Given the description of an element on the screen output the (x, y) to click on. 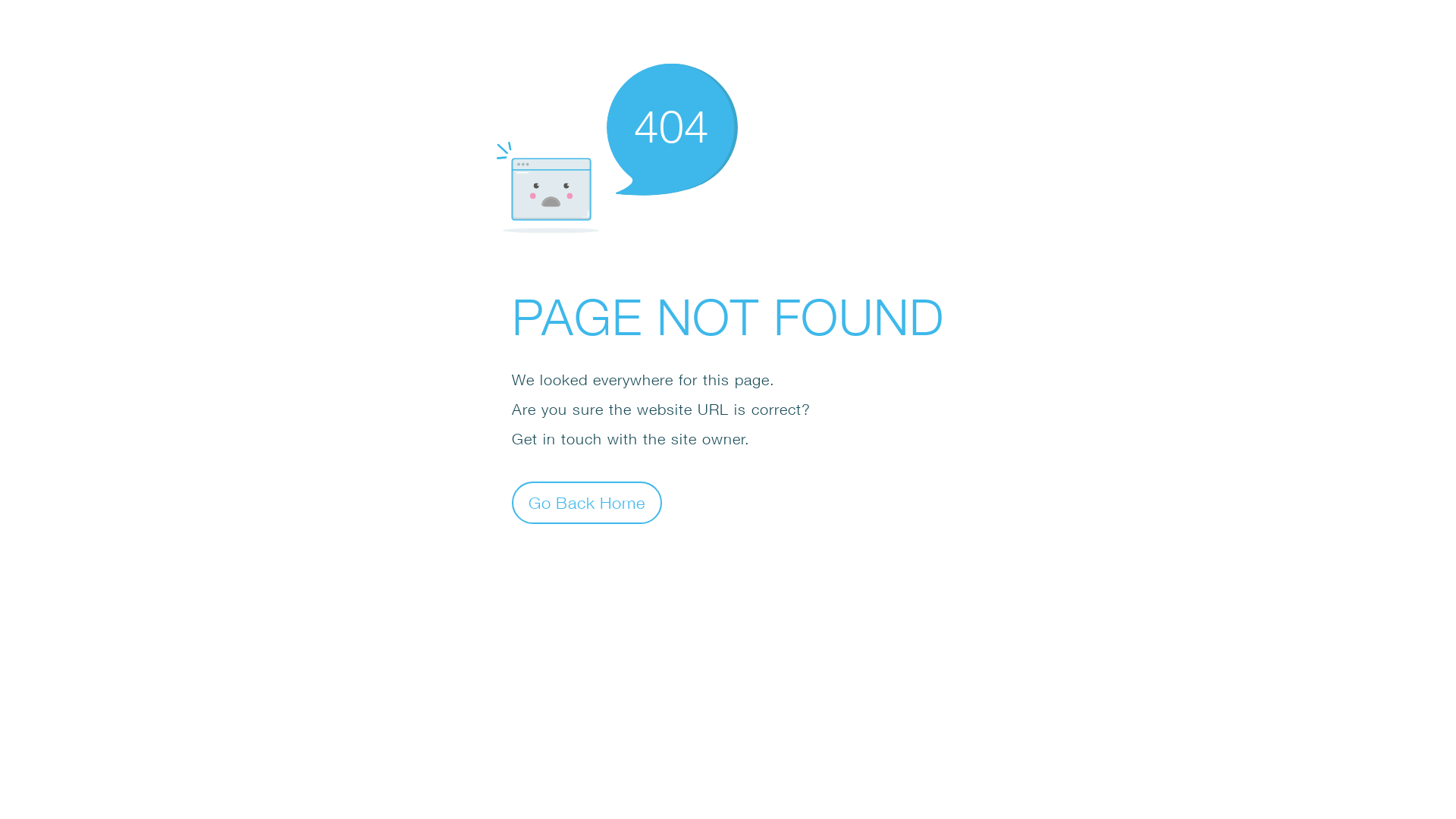
Go Back Home Element type: text (586, 502)
